Given the description of an element on the screen output the (x, y) to click on. 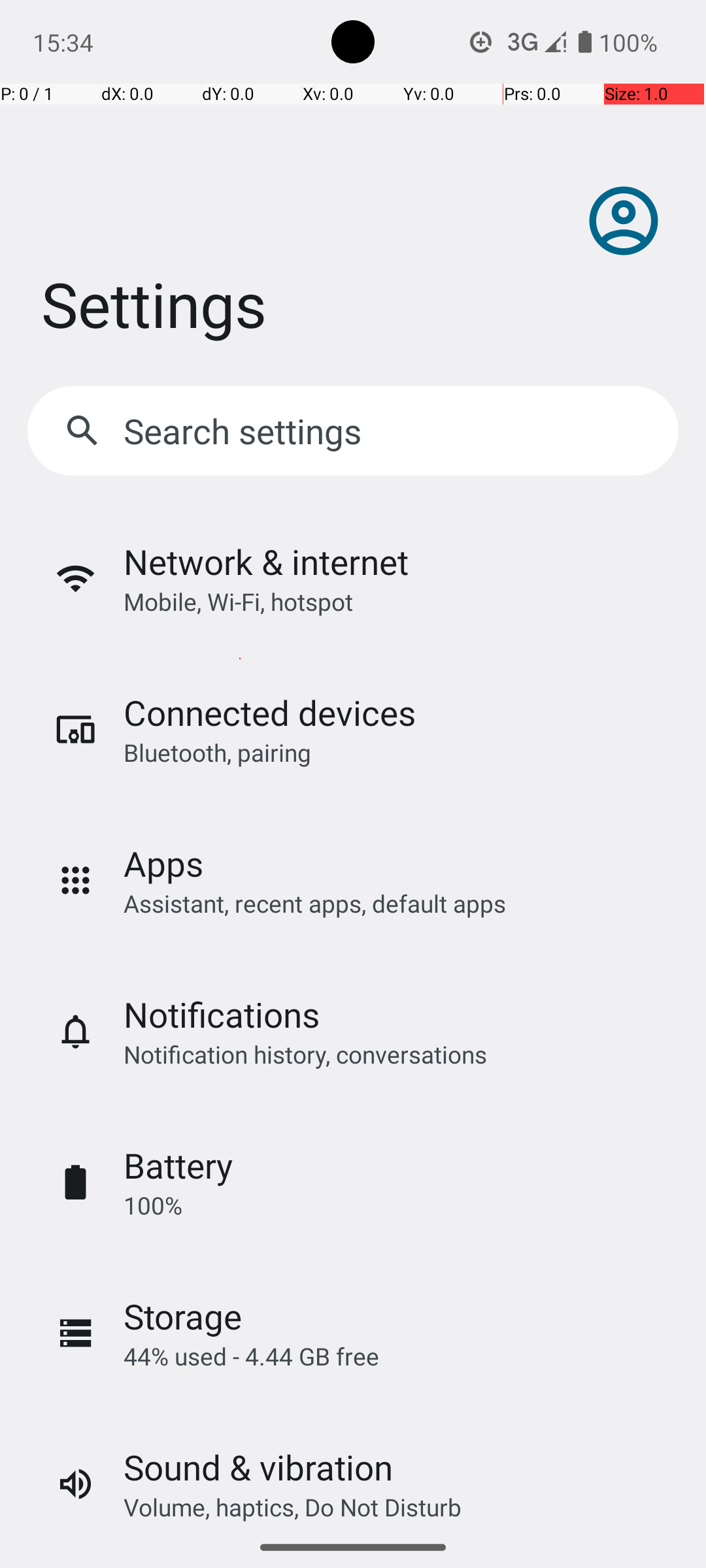
44% used - 4.44 GB free Element type: android.widget.TextView (251, 1355)
